Given the description of an element on the screen output the (x, y) to click on. 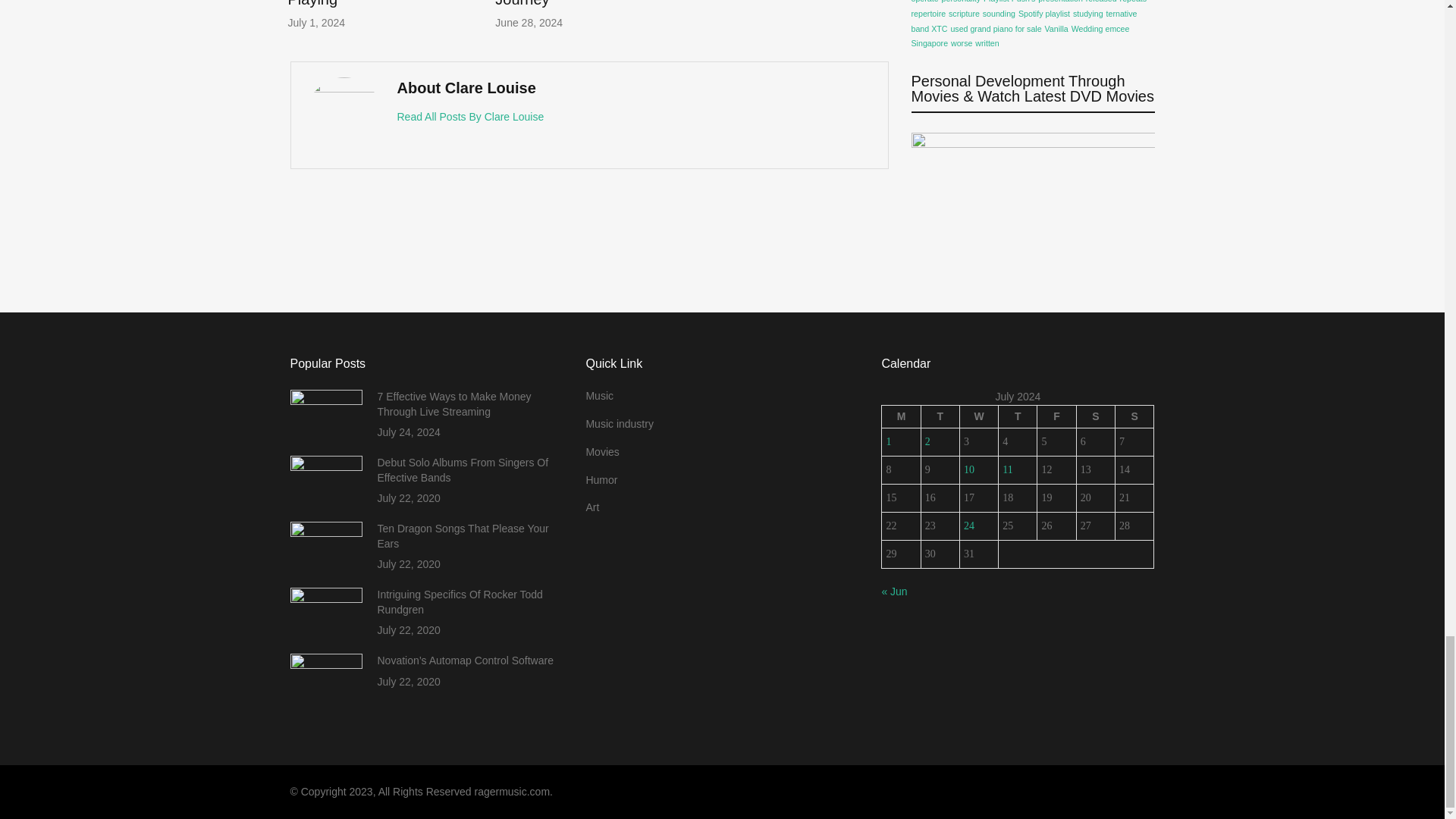
Friday (1055, 416)
The Art of the DJ Set: Crafting a House Music Journey (573, 3)
Read All Posts By Clare Louise (470, 116)
Wednesday (978, 416)
Tuesday (939, 416)
Sunday (1134, 416)
Saturday (1095, 416)
Thursday (1017, 416)
Bass Guitar Notes and Tips For Expertise In Playing (364, 3)
Monday (901, 416)
